Given the description of an element on the screen output the (x, y) to click on. 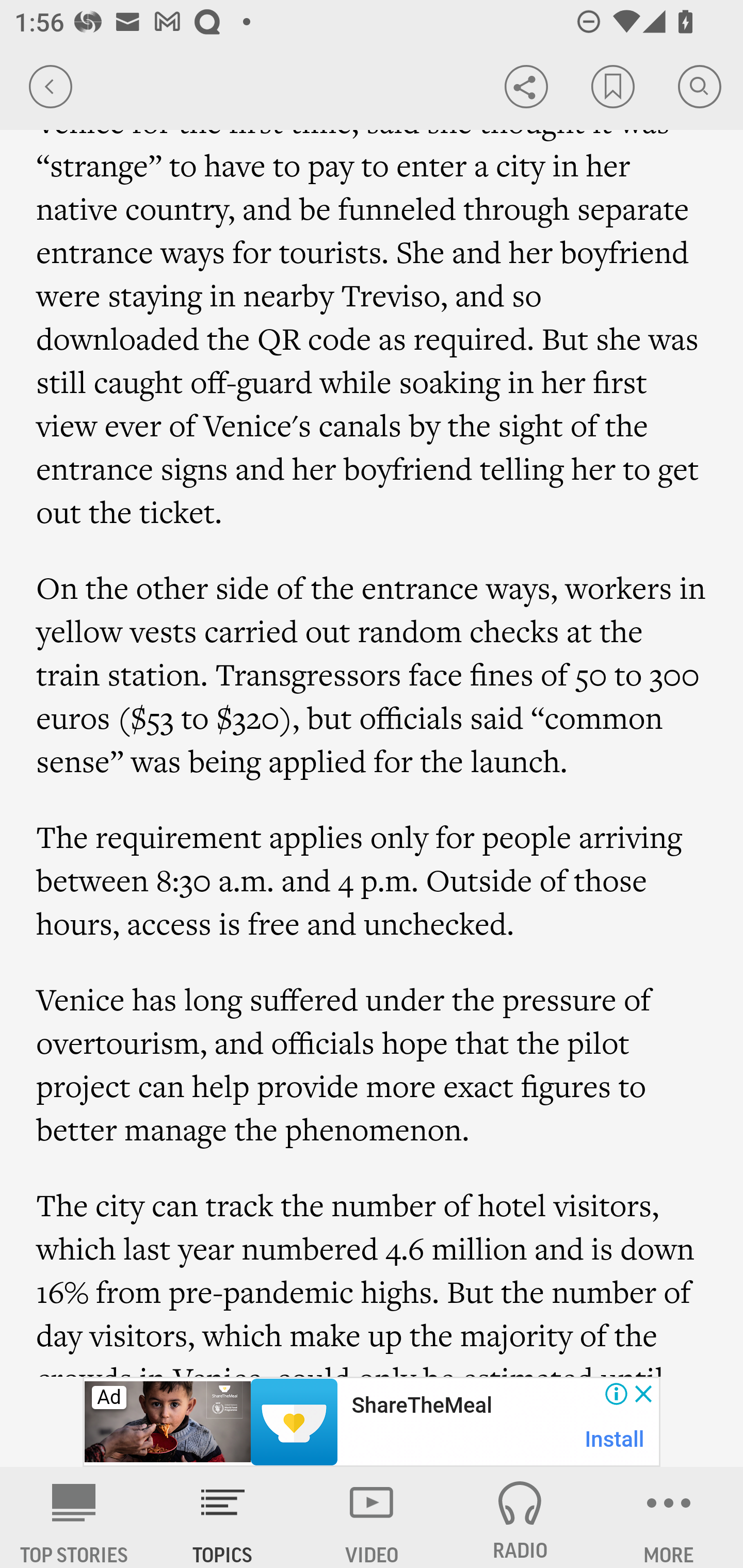
ShareTheMeal (420, 1405)
Install (614, 1438)
AP News TOP STORIES (74, 1517)
TOPICS (222, 1517)
VIDEO (371, 1517)
RADIO (519, 1517)
MORE (668, 1517)
